Given the description of an element on the screen output the (x, y) to click on. 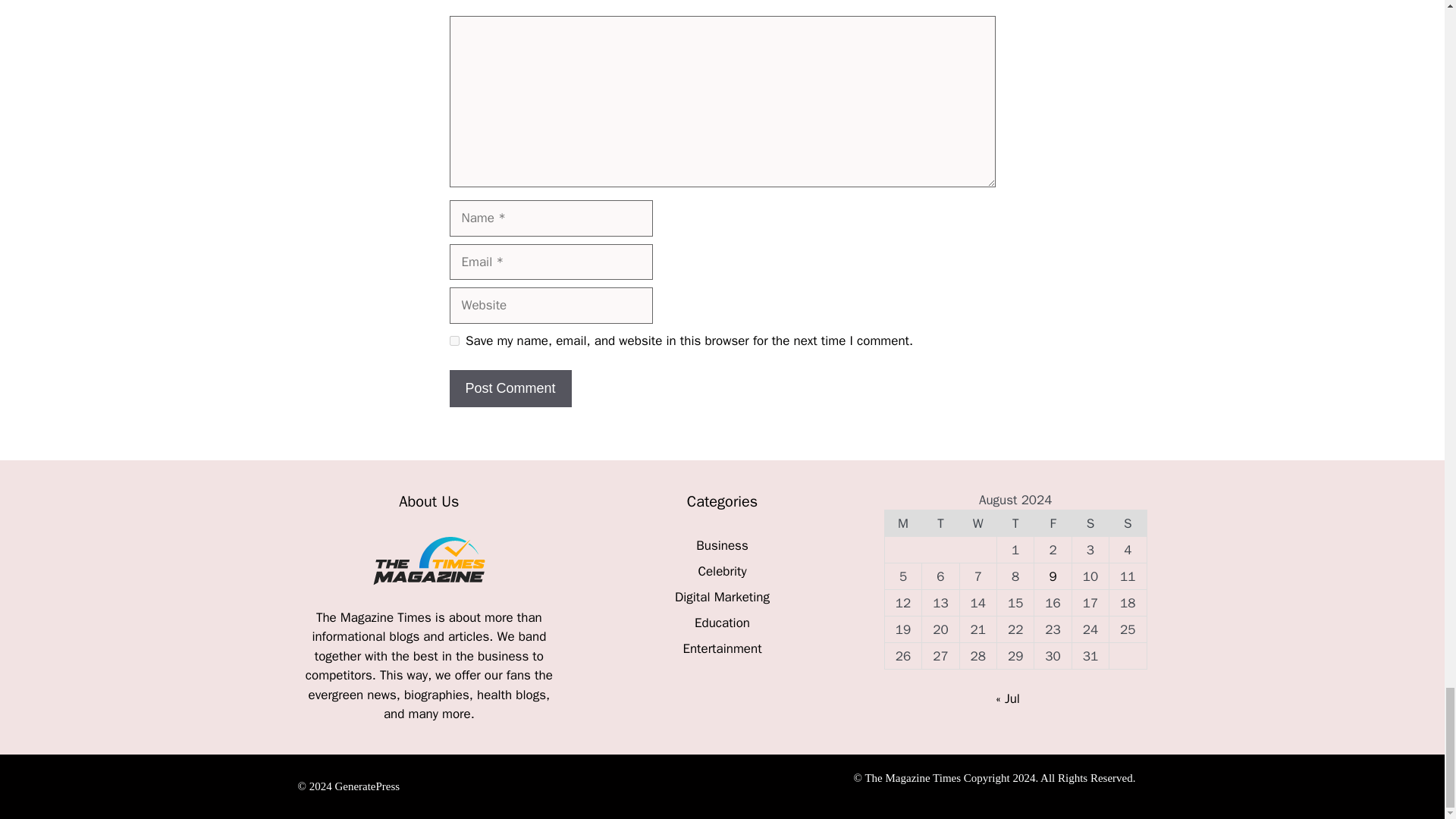
Post Comment (509, 388)
Tuesday (940, 523)
Wednesday (977, 523)
Thursday (1014, 523)
Monday (902, 523)
yes (453, 340)
Sunday (1128, 523)
Saturday (1089, 523)
Friday (1052, 523)
